Given the description of an element on the screen output the (x, y) to click on. 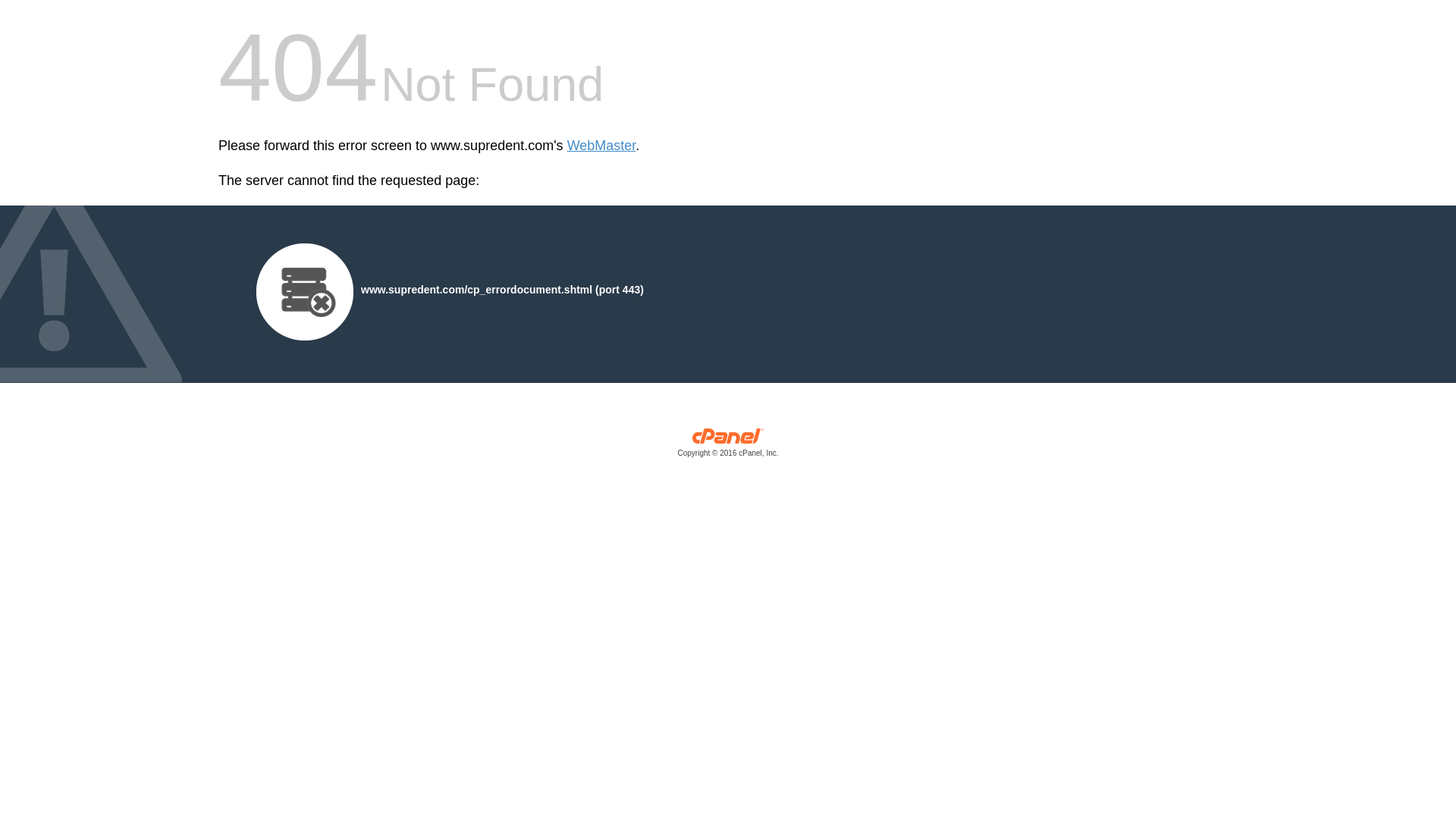
WebMaster (601, 145)
cPanel, Inc. (727, 446)
